Given the description of an element on the screen output the (x, y) to click on. 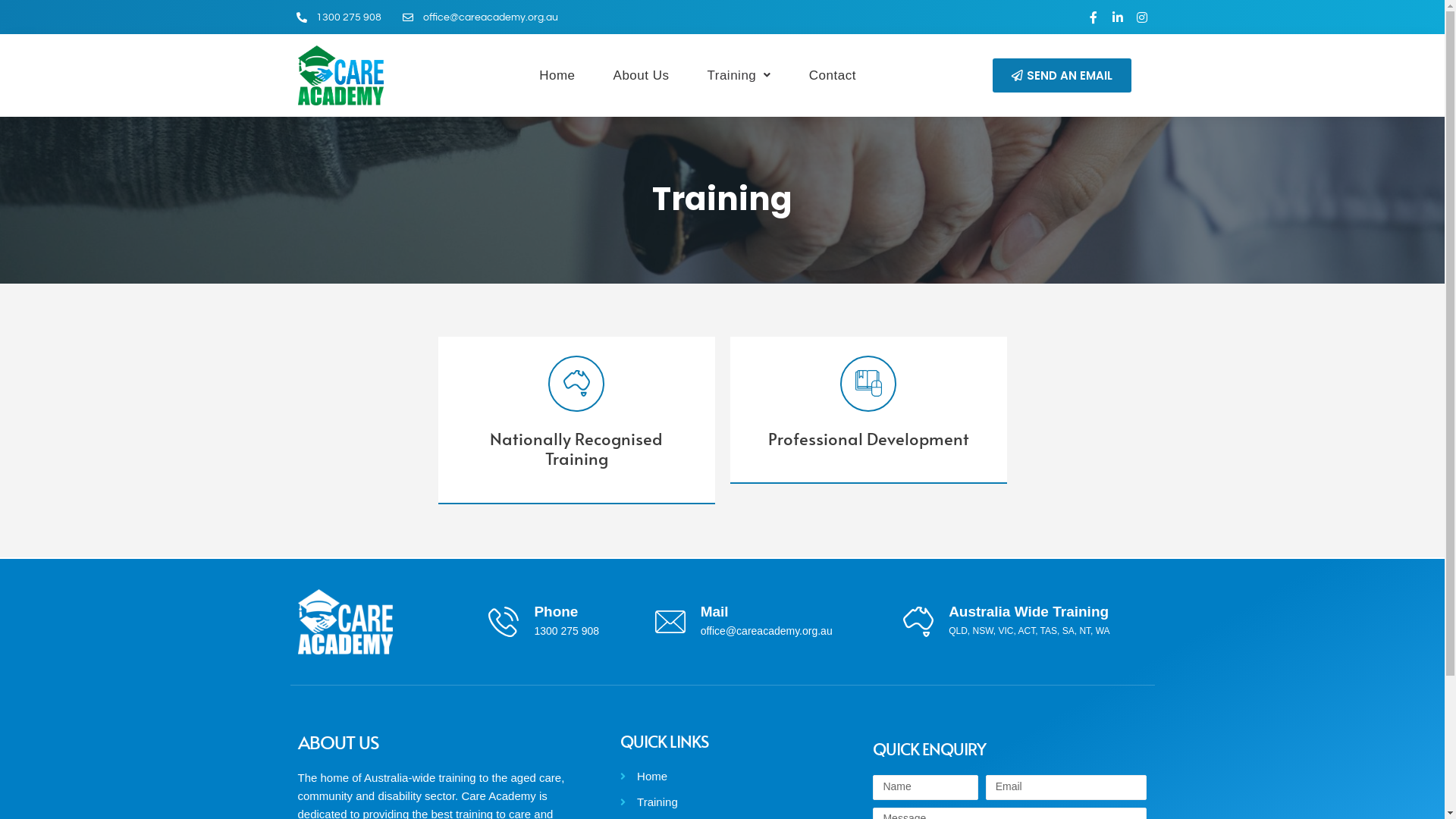
SEND AN EMAIL Element type: text (1061, 75)
Nationally Recognised Training Element type: text (575, 447)
Home Element type: text (716, 776)
Home Element type: text (556, 75)
Professional Development Element type: text (867, 437)
Training Element type: text (739, 75)
About Us Element type: text (641, 75)
1300 275 908 Element type: text (338, 16)
Training Element type: text (716, 802)
Phone Element type: text (555, 611)
office@careacademy.org.au Element type: text (480, 16)
Contact Element type: text (832, 75)
Mail Element type: text (714, 611)
